Given the description of an element on the screen output the (x, y) to click on. 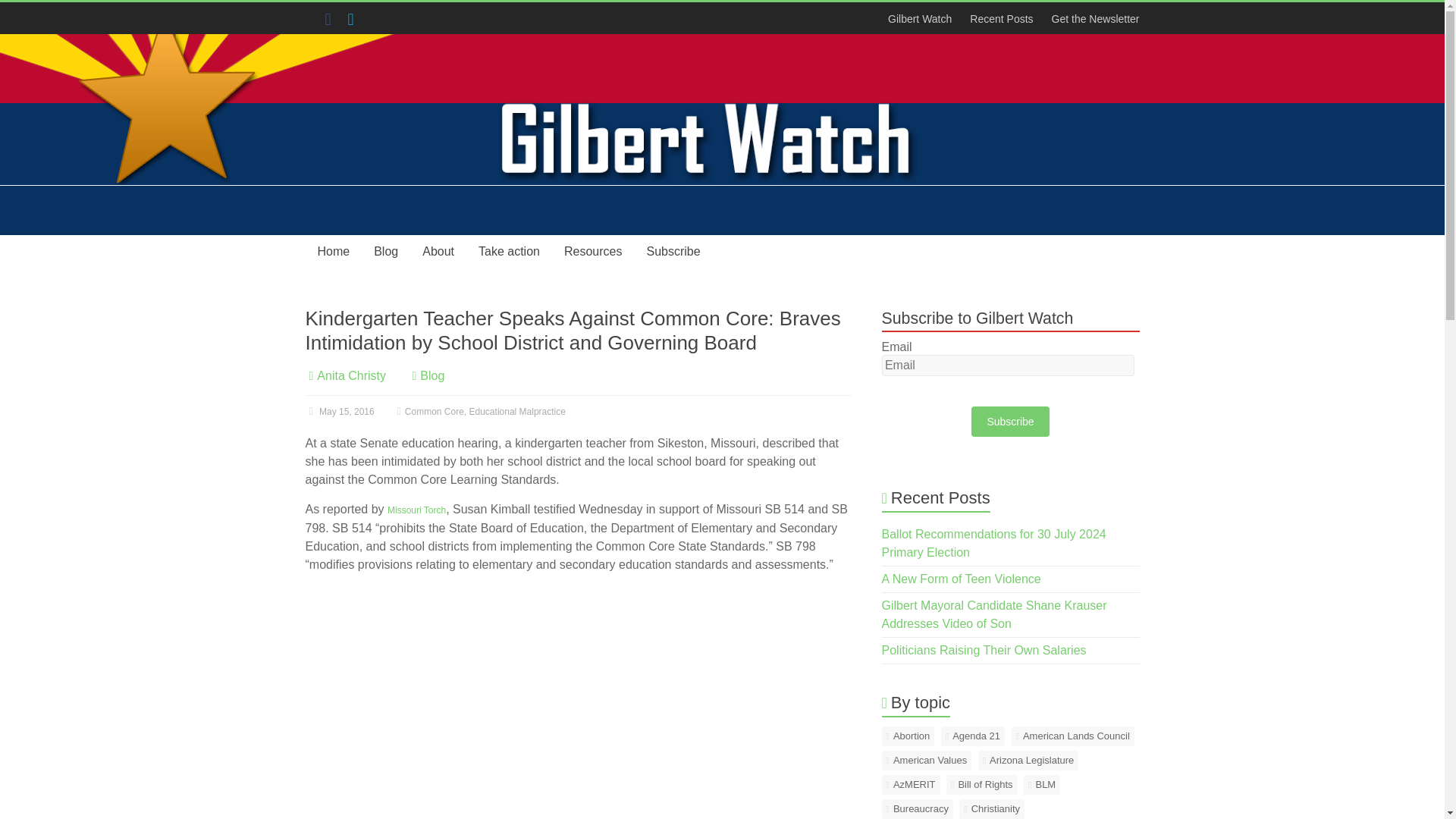
Anita Christy (351, 375)
Common Core (434, 411)
Recent Posts (1001, 18)
May 15, 2016 (339, 411)
Take action (508, 251)
About (437, 251)
Blog (432, 375)
Gilbert Watch (344, 91)
Blog (385, 251)
Missouri Torch (416, 510)
